Given the description of an element on the screen output the (x, y) to click on. 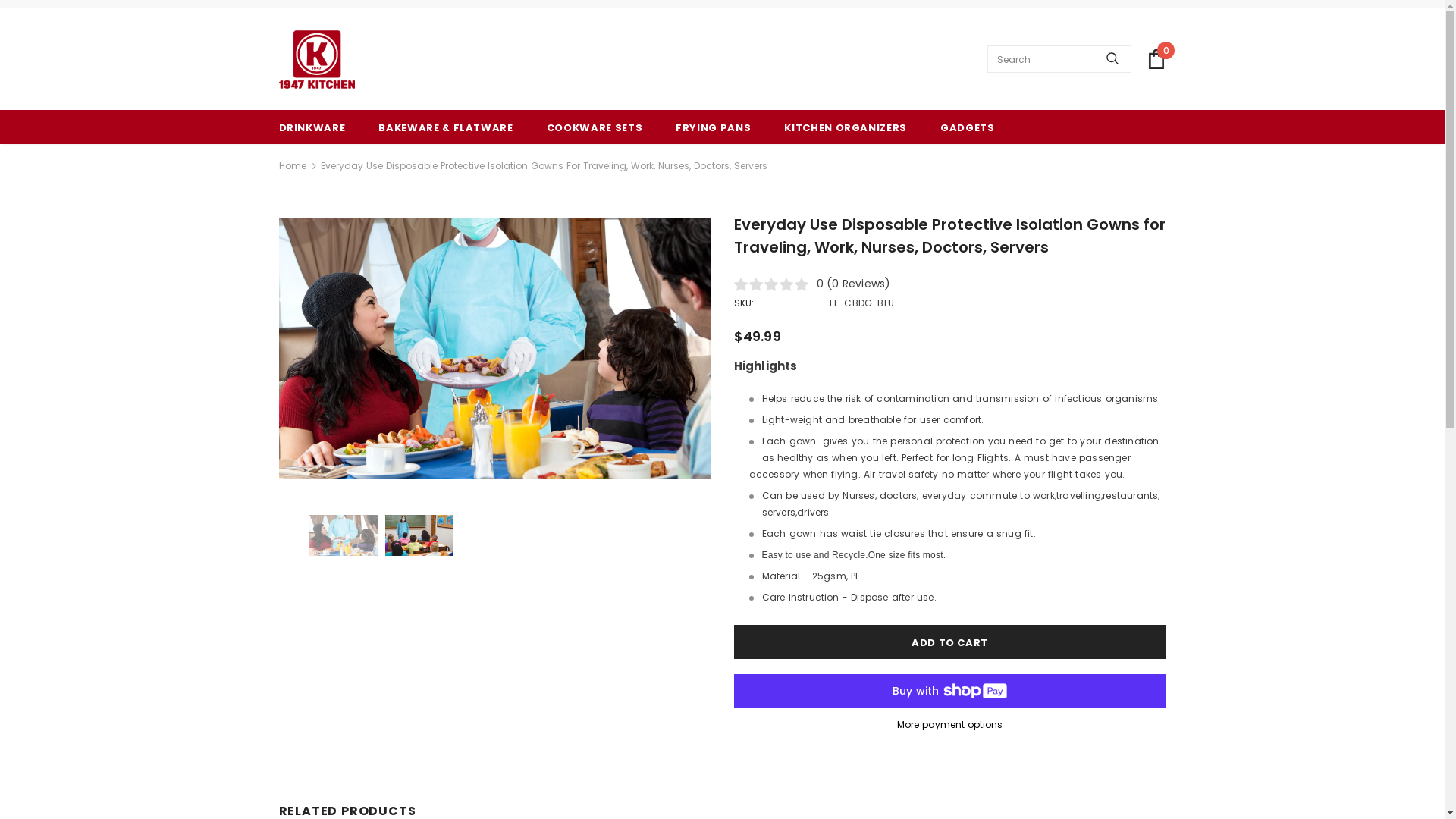
BAKEWARE & FLATWARE Element type: text (445, 126)
Home Element type: text (292, 165)
DRINKWARE Element type: text (312, 126)
0 Element type: text (1156, 59)
GADGETS Element type: text (967, 126)
FRYING PANS Element type: text (712, 126)
KITCHEN ORGANIZERS Element type: text (845, 126)
Add to cart Element type: text (950, 641)
More payment options Element type: text (950, 724)
COOKWARE SETS Element type: text (594, 126)
Logo Element type: hover (316, 59)
